Given the description of an element on the screen output the (x, y) to click on. 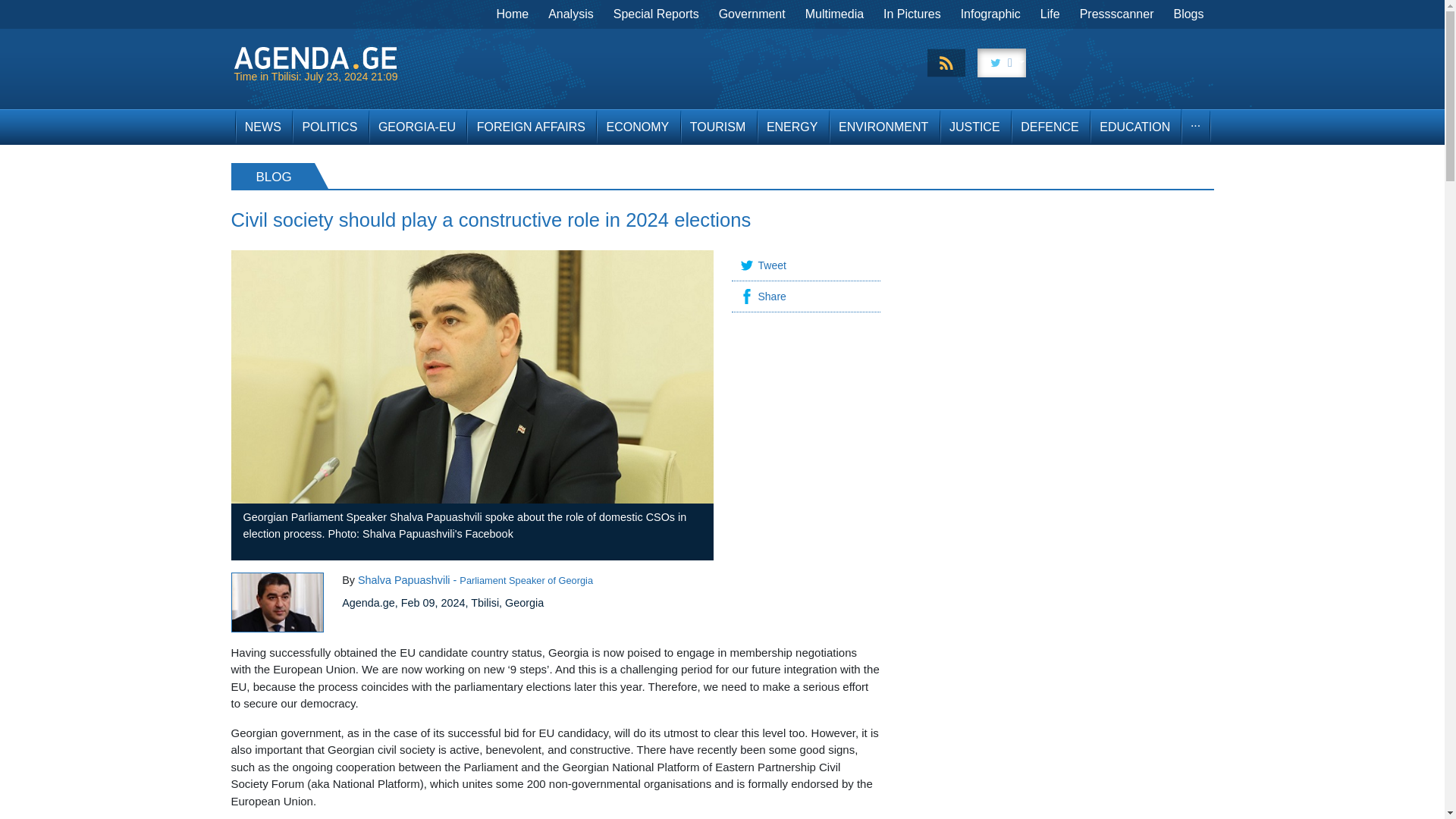
Special Reports (656, 14)
Blogs (1187, 14)
Infographic (990, 14)
Multimedia (833, 14)
Pressscanner (1116, 14)
Life (1050, 14)
Government (751, 14)
In Pictures (911, 14)
NEWS (262, 126)
Home (512, 14)
Analysis (571, 14)
